Given the description of an element on the screen output the (x, y) to click on. 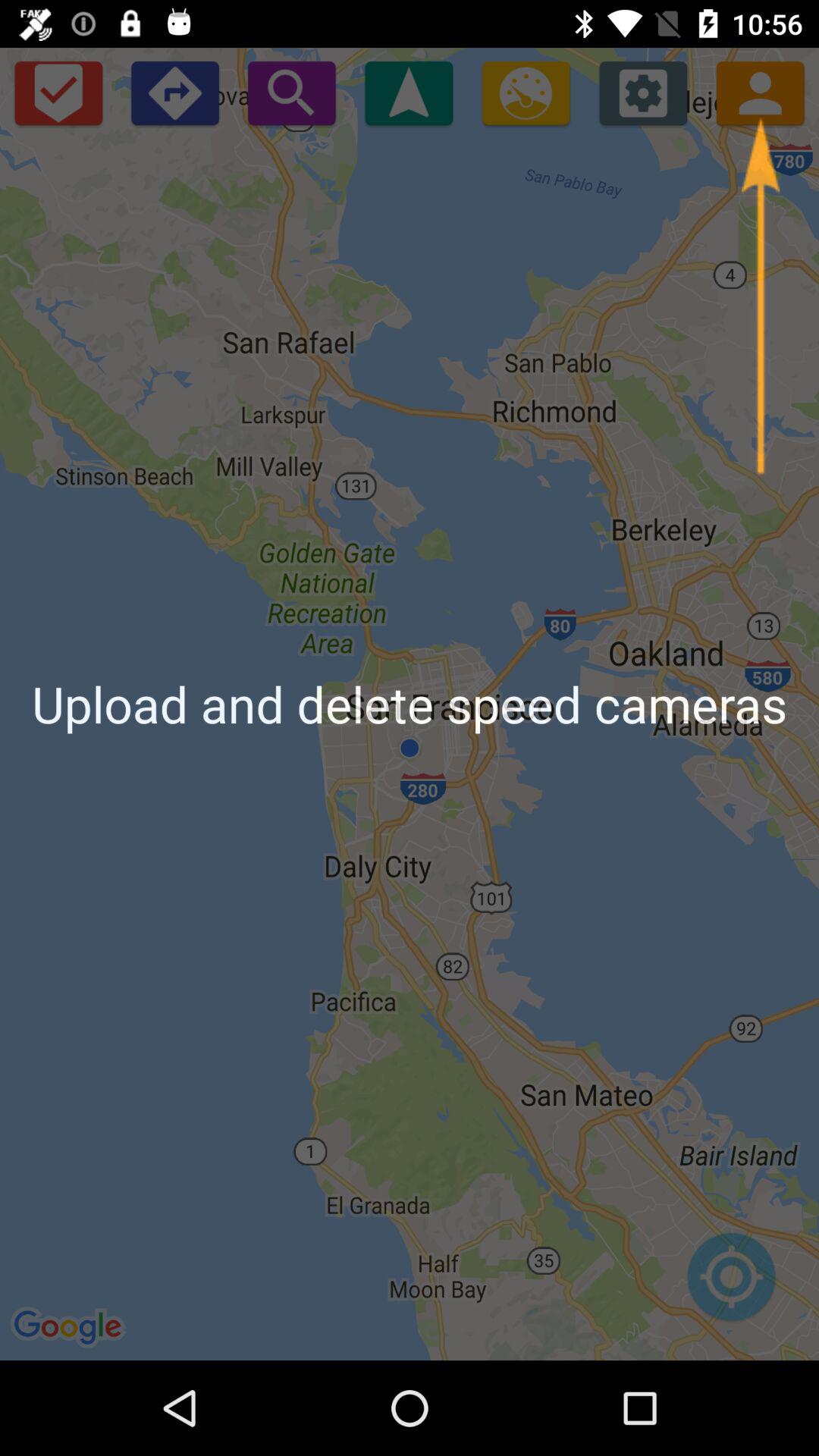
upwards option (408, 92)
